Given the description of an element on the screen output the (x, y) to click on. 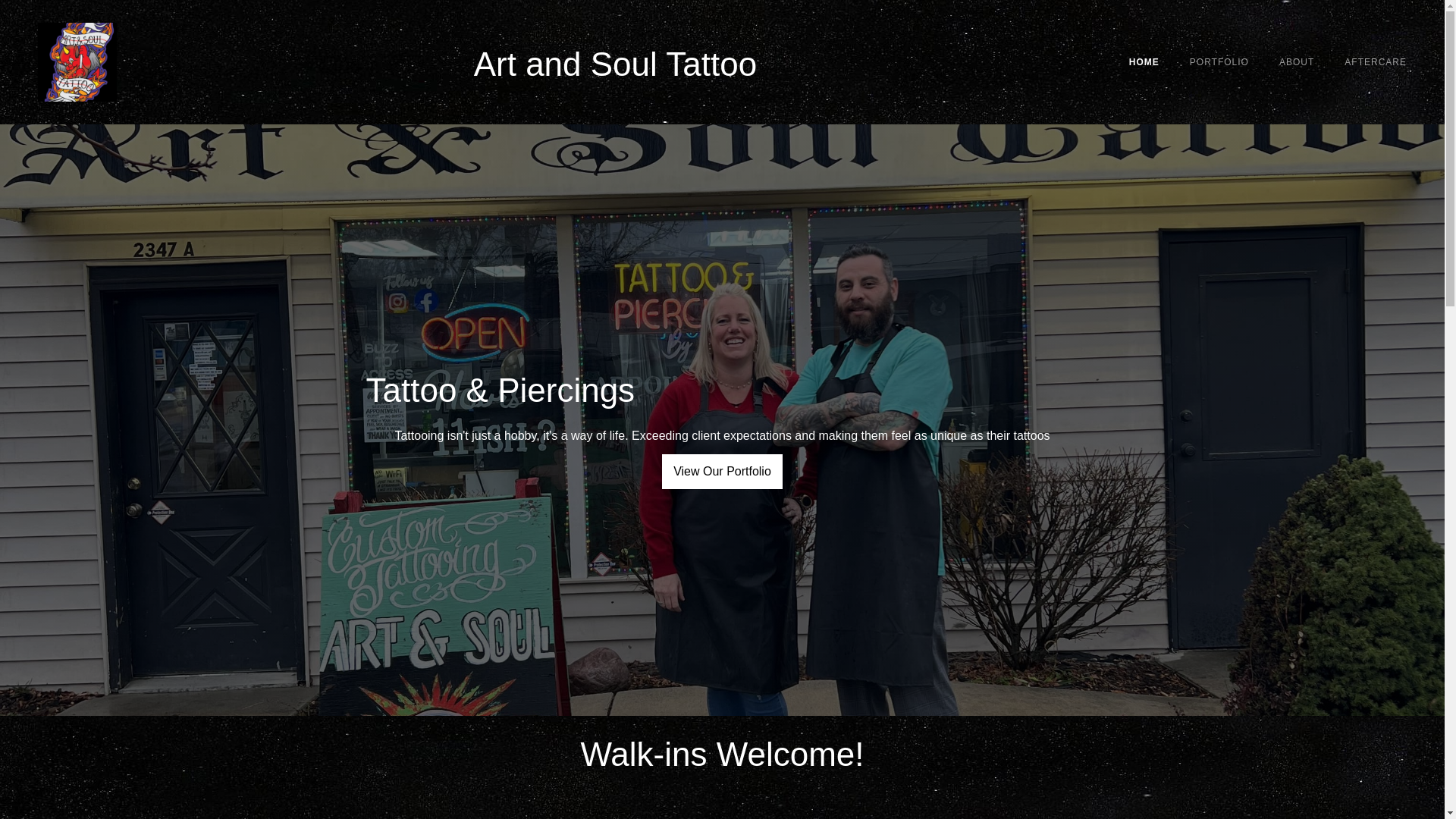
PORTFOLIO Element type: text (1219, 61)
HOME Element type: text (1143, 61)
ABOUT Element type: text (1296, 61)
View Our Portfolio Element type: text (722, 470)
